Given the description of an element on the screen output the (x, y) to click on. 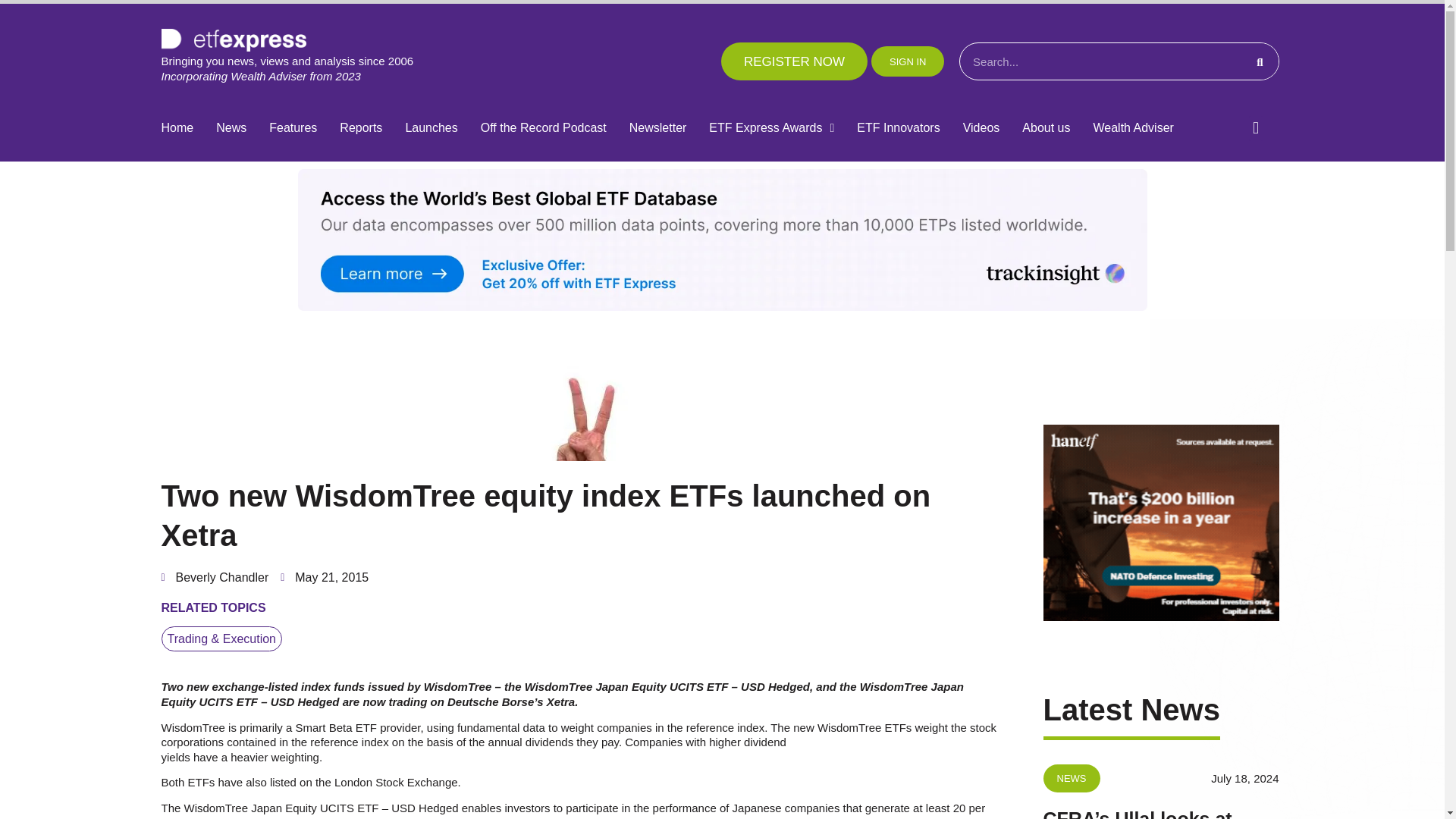
REGISTER NOW (793, 61)
Features (293, 128)
SIGN IN (906, 60)
